Given the description of an element on the screen output the (x, y) to click on. 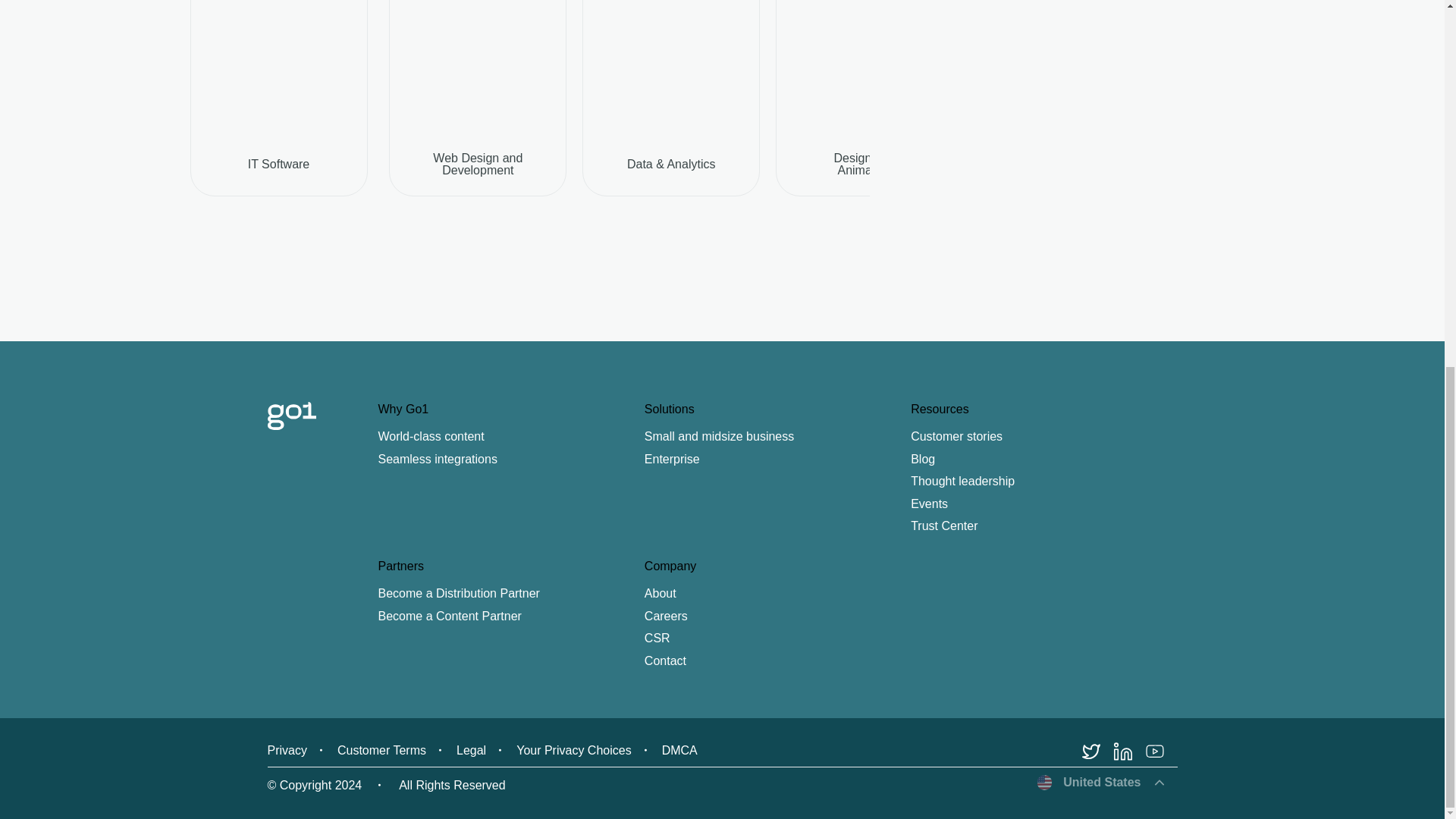
Trust Center (1043, 525)
Events (1043, 504)
Customer stories (1043, 436)
World-class content (510, 436)
IT Software (278, 164)
Careers (778, 616)
Small and midsize business (778, 436)
Blog (1043, 459)
Seamless integrations (510, 459)
Become a Content Partner (510, 616)
Thought leadership (1043, 481)
Become a Distribution Partner (510, 593)
Design and Animation (864, 164)
Web Design and Development (477, 164)
About (778, 593)
